Given the description of an element on the screen output the (x, y) to click on. 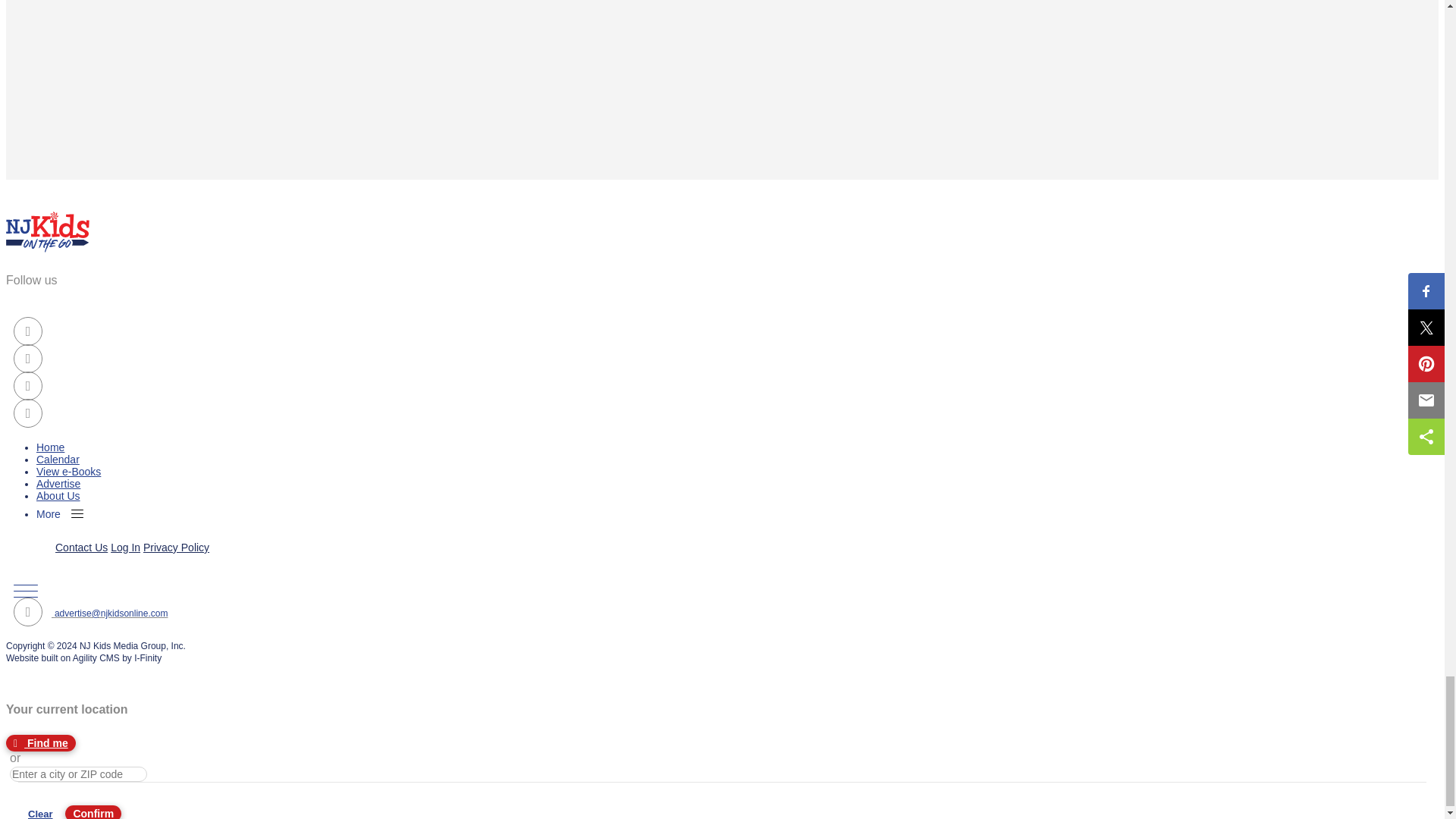
3rd party ad content (118, 67)
